Given the description of an element on the screen output the (x, y) to click on. 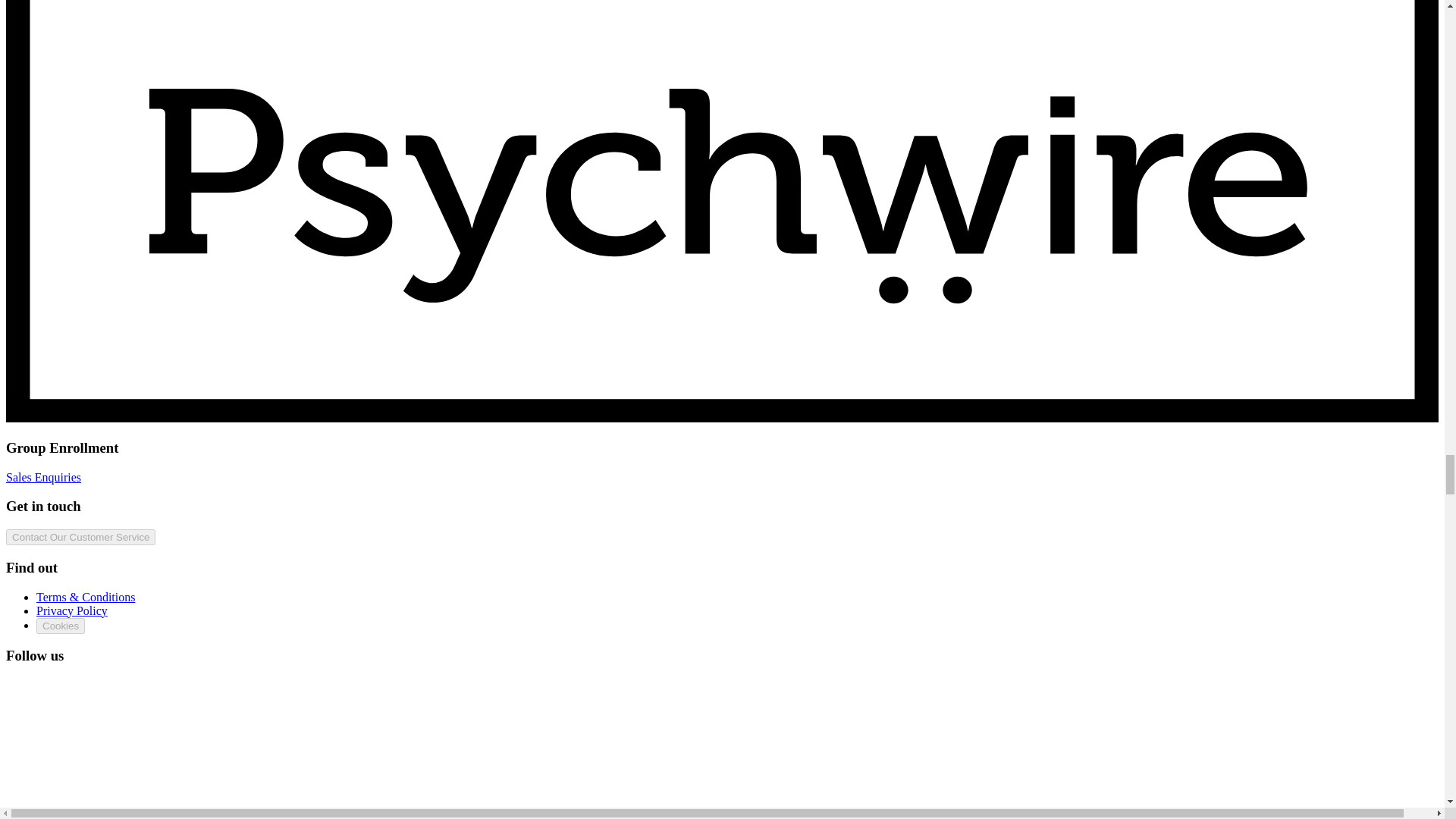
Cookies (60, 625)
Contact Our Customer Service (80, 537)
Privacy Policy (71, 609)
Sales Enquiries (43, 477)
